Given the description of an element on the screen output the (x, y) to click on. 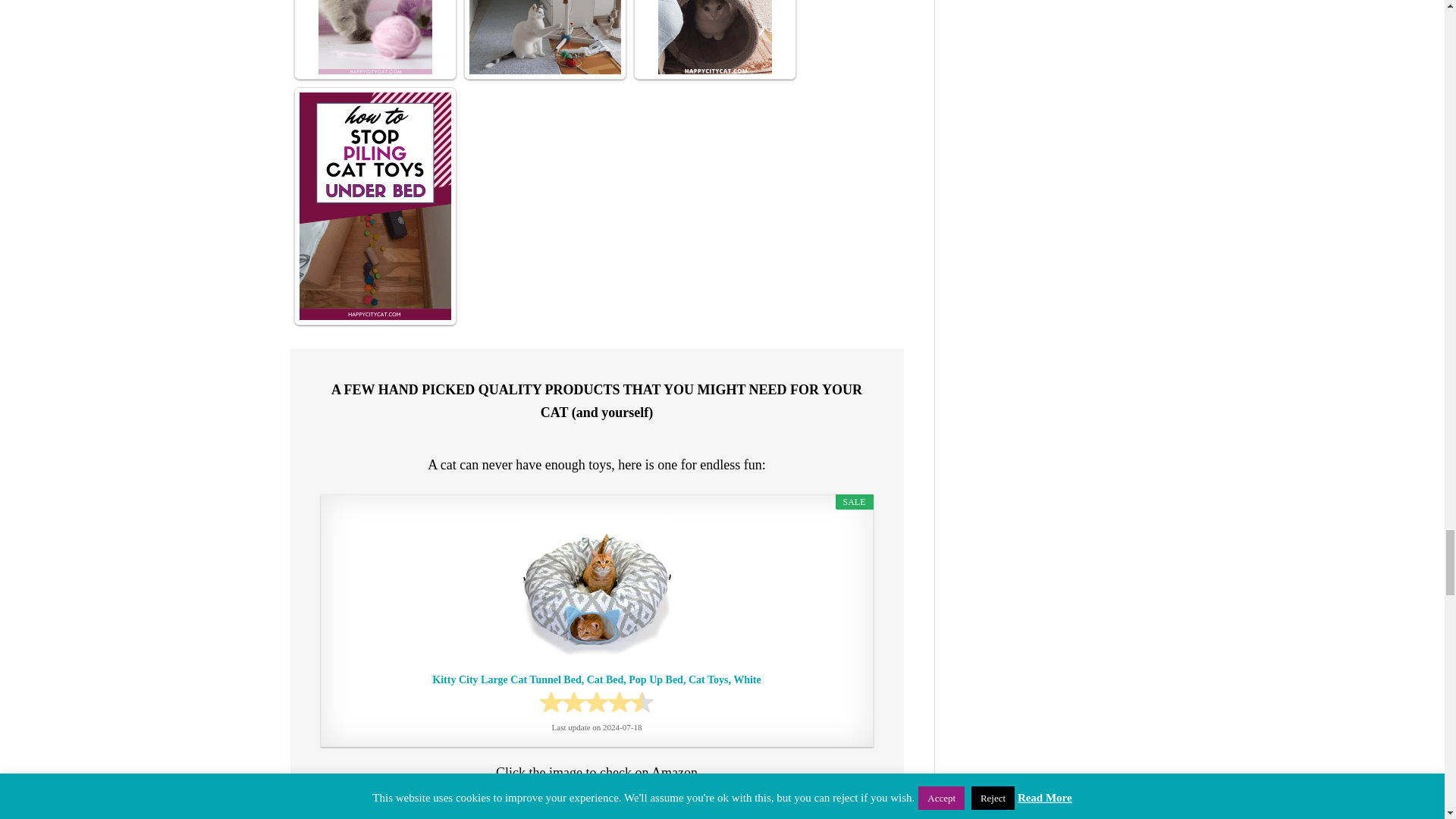
Soft Balls Cat Toys - A Must Have Cat Toy (375, 37)
Helium Balloon Toy For Cat (544, 37)
The Cat Tunnel Test: Do Cats Really Love Them or Not? (714, 37)
